Given the description of an element on the screen output the (x, y) to click on. 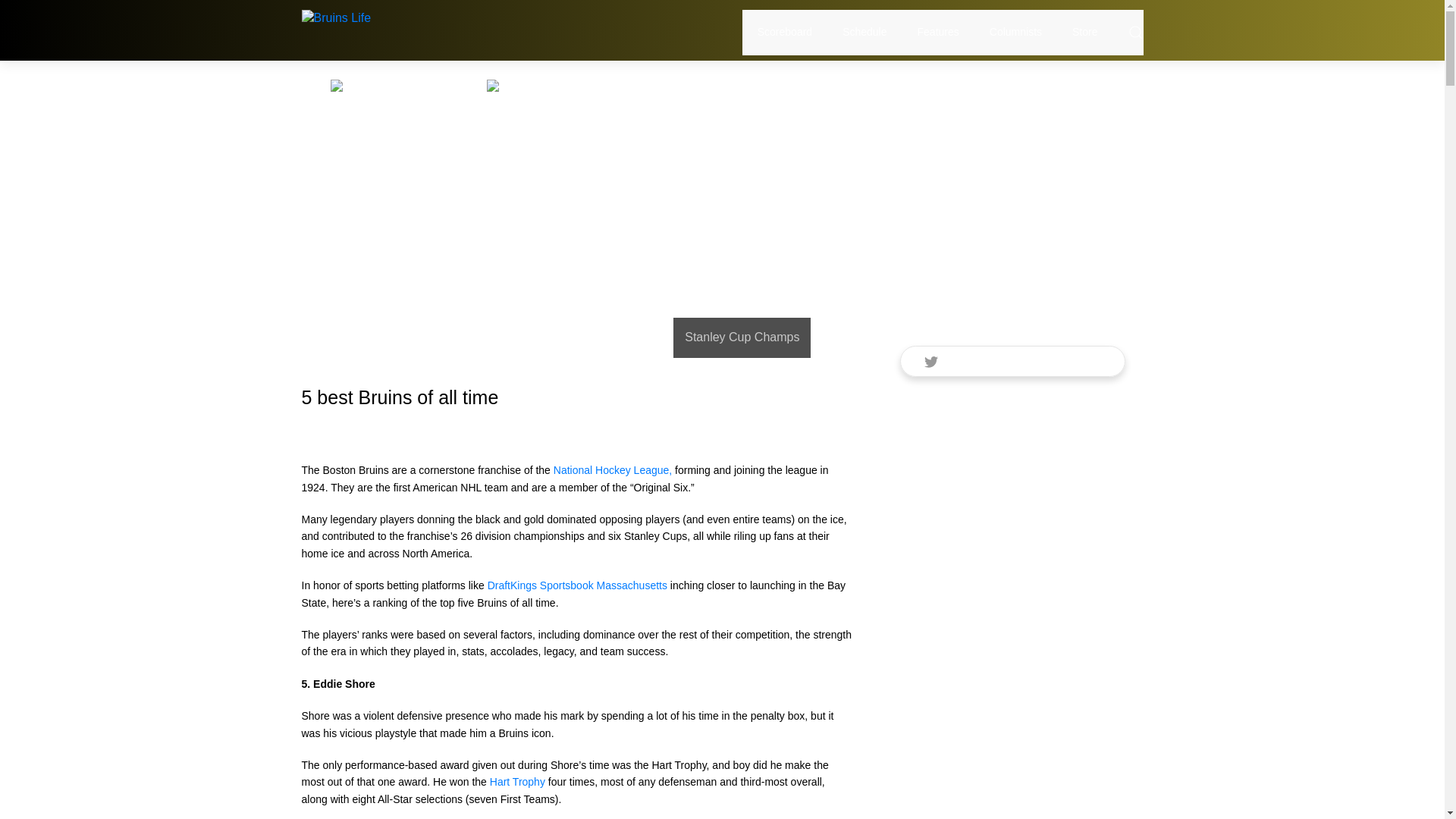
Scoreboard (784, 32)
DraftKings Sportsbook Massachusetts (576, 585)
Features (938, 32)
Advertisement (1012, 178)
National Hockey League, (612, 469)
Schedule (864, 32)
Hart Trophy (516, 781)
Advertisement (1012, 504)
Columnists (1016, 32)
